Given the description of an element on the screen output the (x, y) to click on. 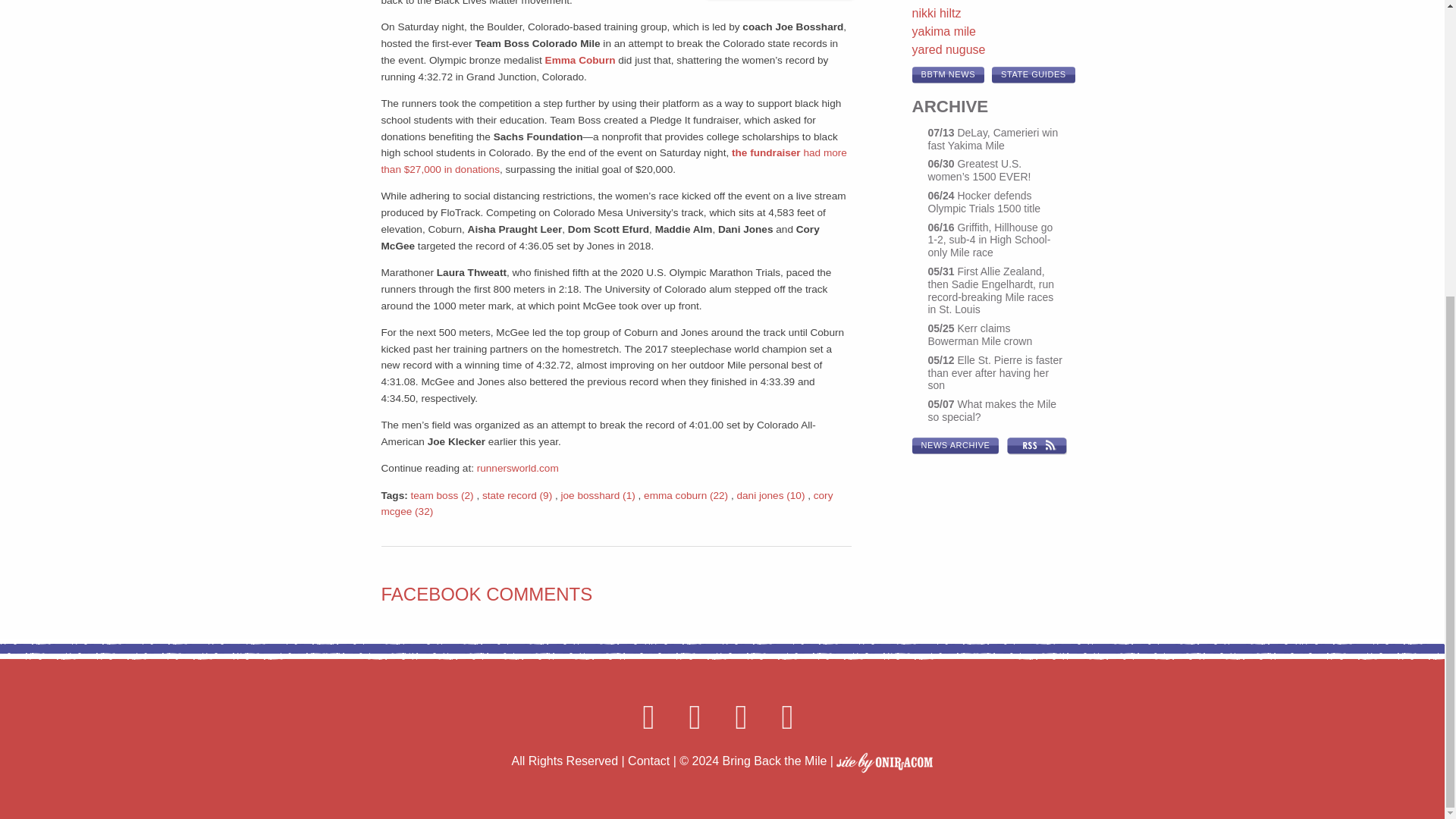
yared nuguse (948, 49)
nikki hiltz (935, 12)
yakima mile (943, 31)
runnersworld.com (518, 468)
Emma Coburn (579, 60)
yakima mile (943, 31)
nikki hiltz (935, 12)
yared nuguse (948, 49)
hobbs kessler (949, 0)
hobbs kessler (949, 0)
